Given the description of an element on the screen output the (x, y) to click on. 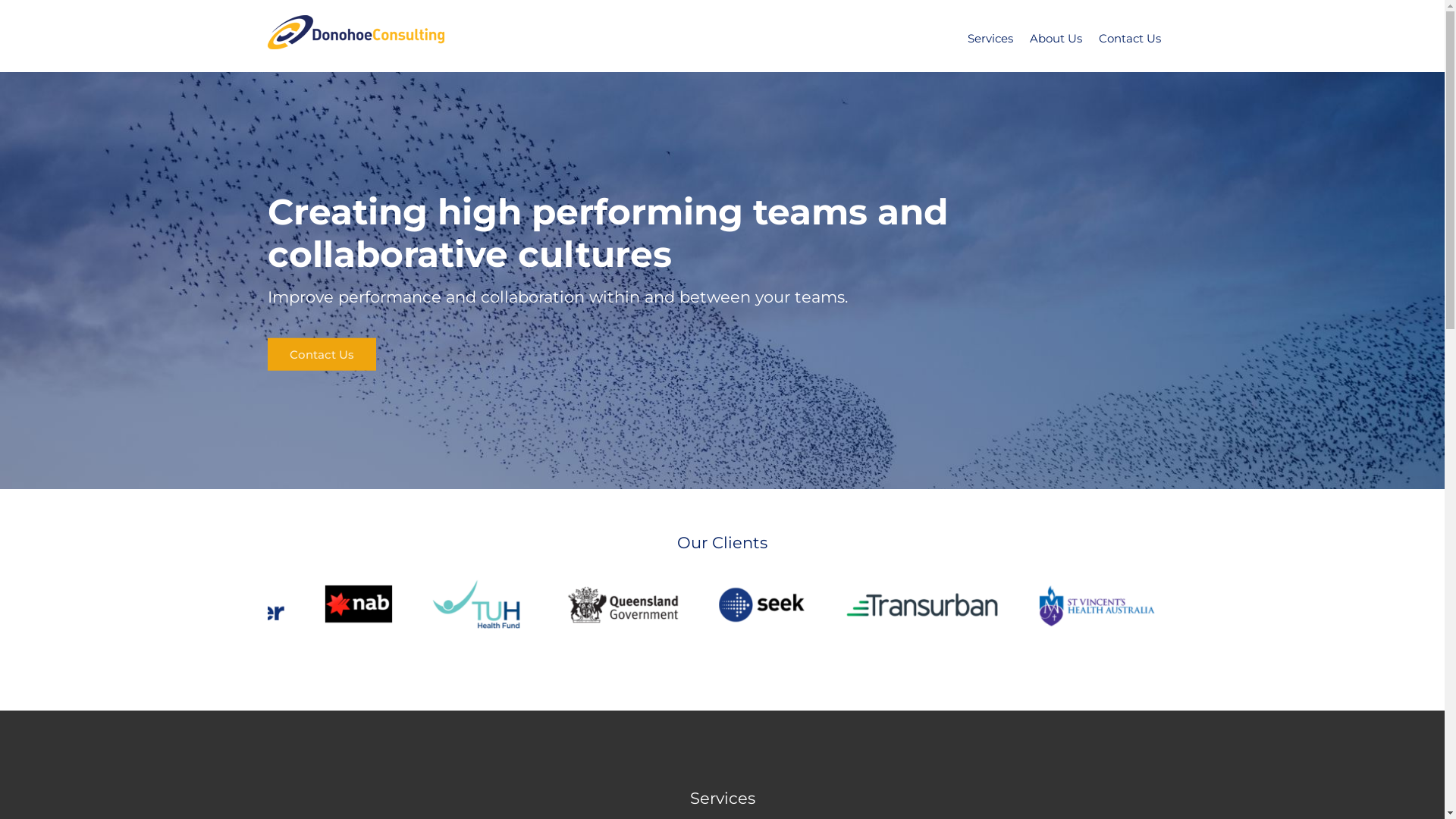
Contact Us Element type: text (320, 353)
Services Element type: text (990, 36)
Contact Us Element type: text (1129, 36)
About Us Element type: text (1055, 36)
